Given the description of an element on the screen output the (x, y) to click on. 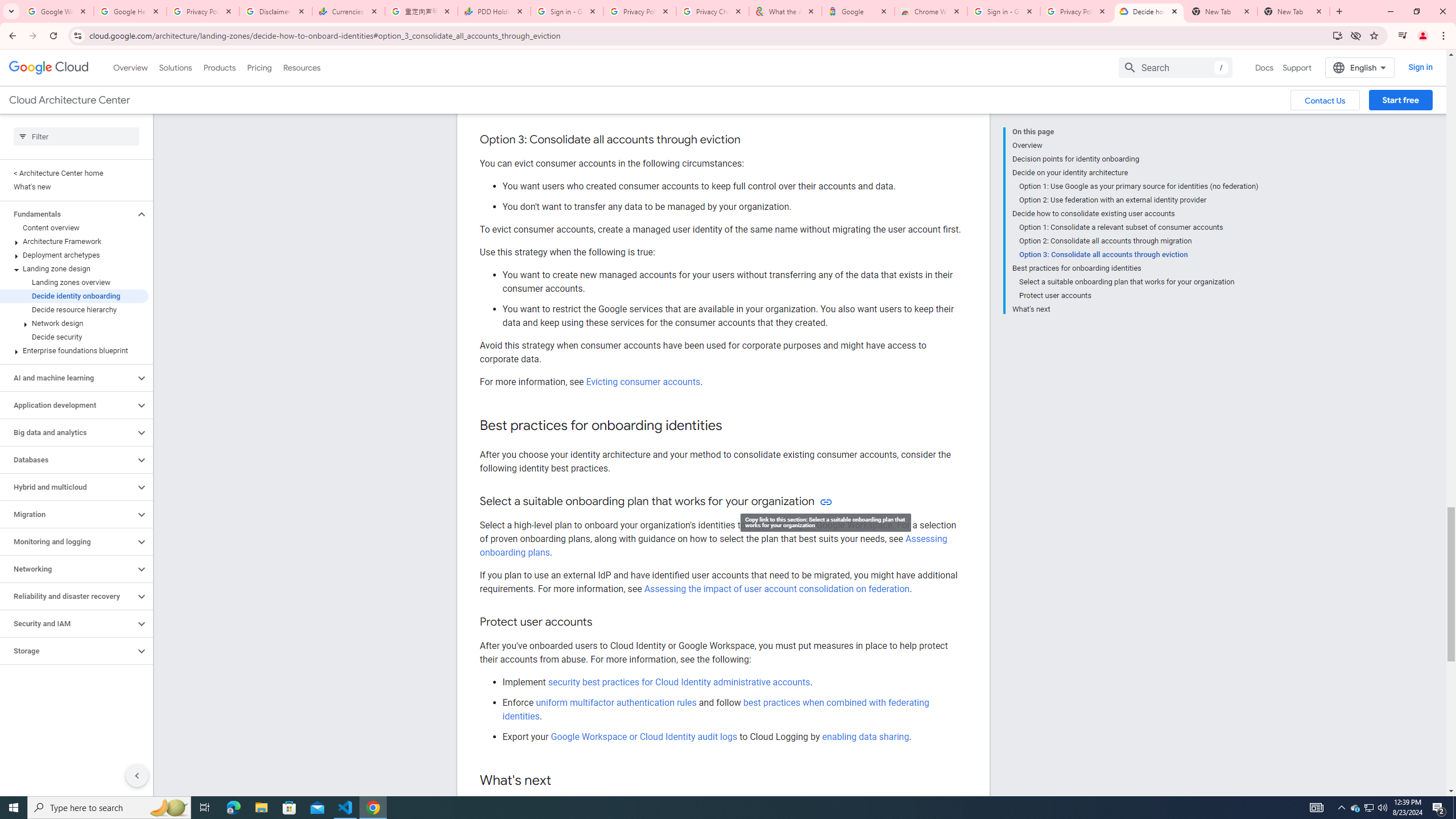
Pricing (259, 67)
Copy link to this section: Protect user accounts (603, 622)
Support (1296, 67)
AI and machine learning (67, 377)
Big data and analytics (67, 432)
Protect user accounts (1138, 295)
Deployment archetypes (74, 255)
Decide on your identity architecture (1134, 172)
New Tab (1293, 11)
Privacy Checkup (712, 11)
Databases (67, 459)
